Given the description of an element on the screen output the (x, y) to click on. 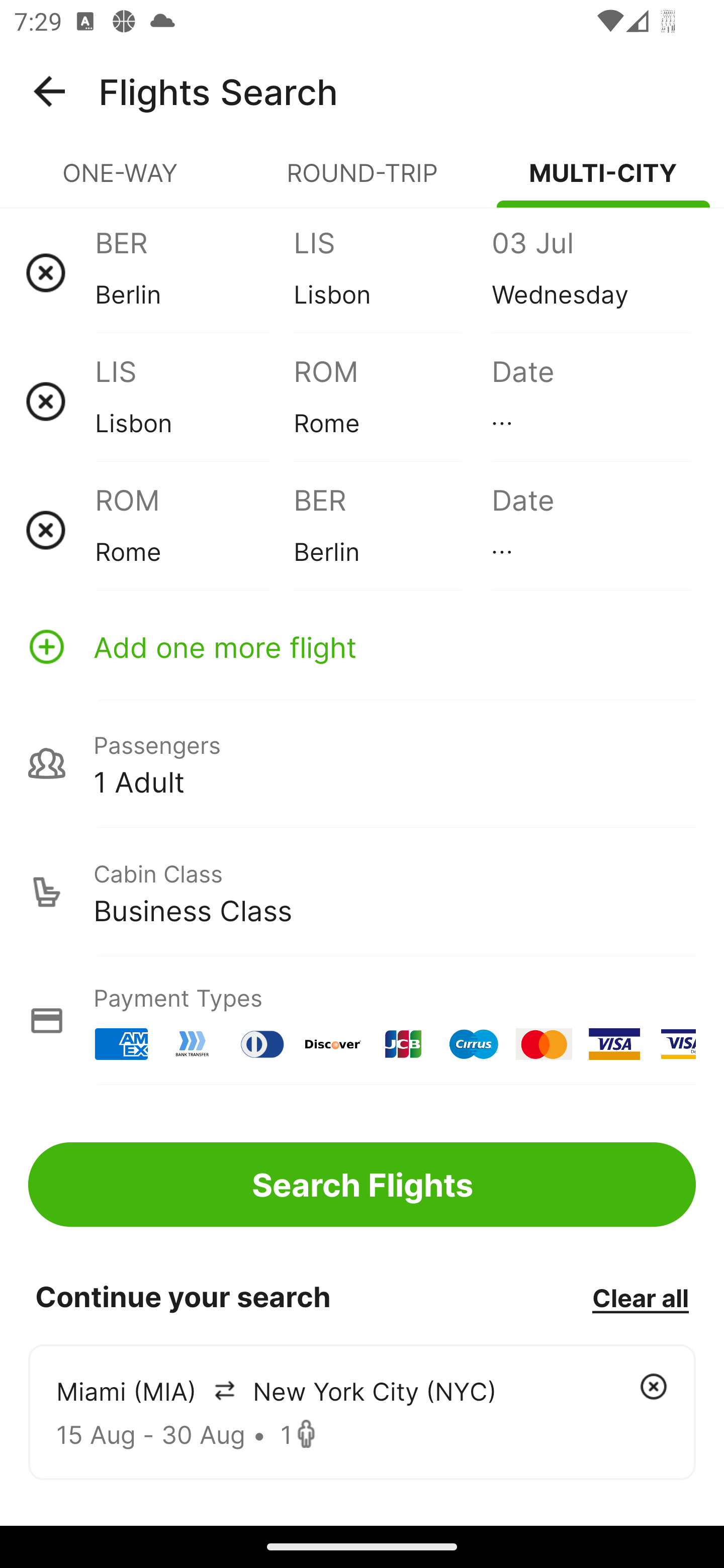
ONE-WAY (120, 180)
ROUND-TRIP (361, 180)
MULTI-CITY (603, 180)
BER Berlin (193, 272)
LIS Lisbon (392, 272)
03 Jul Wednesday (590, 272)
LIS Lisbon (193, 401)
ROM Rome (392, 401)
Date ⋯ (590, 401)
ROM Rome (193, 529)
BER Berlin (392, 529)
Date ⋯ (590, 529)
Add one more flight (362, 646)
Passengers 1 Adult (362, 762)
Cabin Class Business Class (362, 891)
Payment Types (362, 1020)
Search Flights (361, 1184)
Clear all (640, 1297)
